Given the description of an element on the screen output the (x, y) to click on. 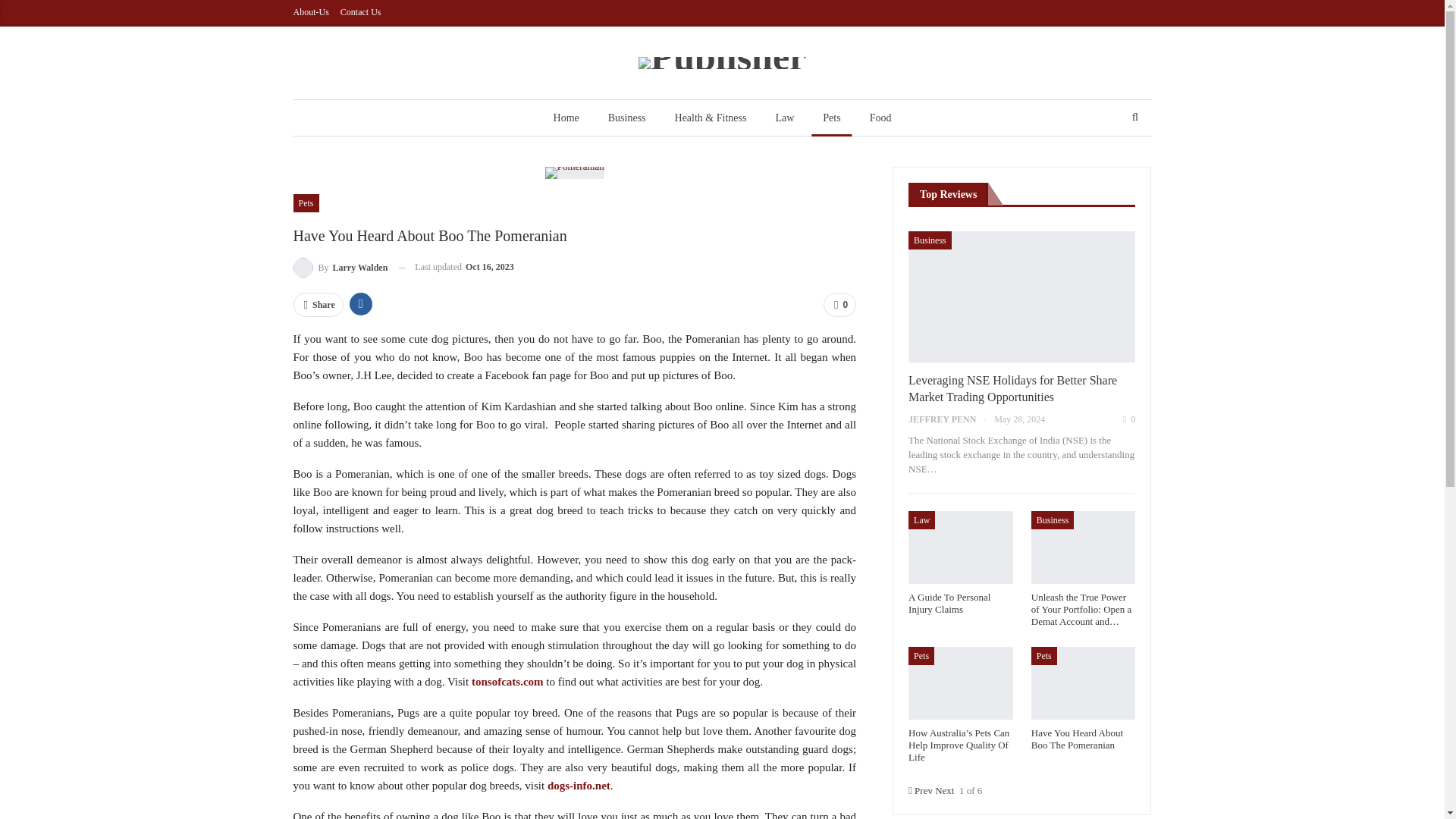
tonsofcats.com (507, 681)
0 (840, 304)
Browse Author Articles (339, 267)
Contact Us (360, 11)
Browse Author Articles (951, 419)
Pets (830, 117)
Law (783, 117)
By Larry Walden (339, 267)
Business (627, 117)
Home (566, 117)
dogs-info.net (578, 785)
Pets (305, 203)
About-Us (310, 11)
Food (880, 117)
